Given the description of an element on the screen output the (x, y) to click on. 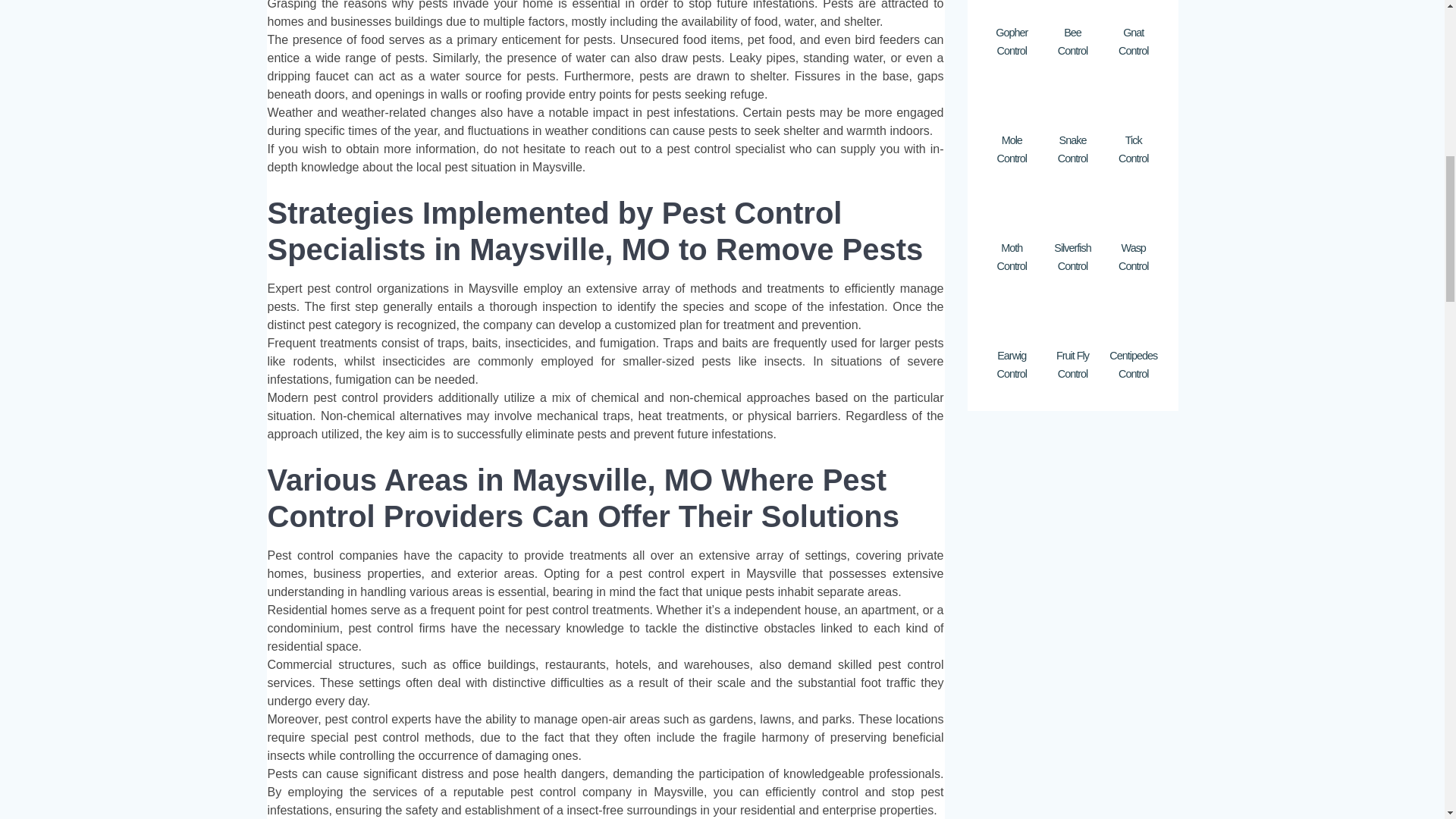
Pest control against moths (1011, 207)
Pest control against silverfish (1072, 207)
Pest control against moles (1011, 100)
Pest control against bees (1072, 8)
Pest control against earwigs (1011, 315)
Pest control against gophers (1011, 8)
Pest control against fruit flies (1072, 315)
Pest control against snakes (1072, 100)
